Given the description of an element on the screen output the (x, y) to click on. 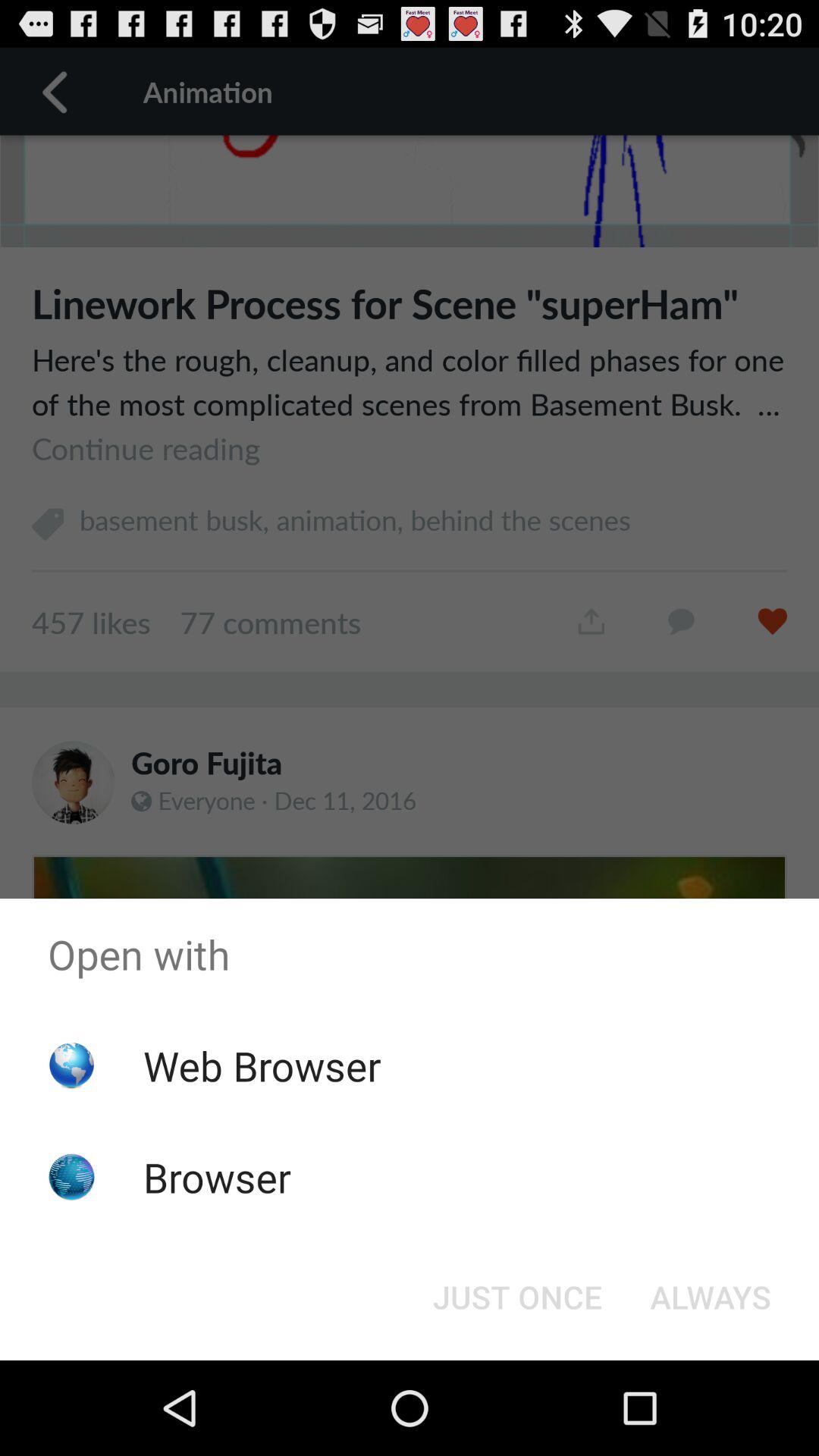
turn off item to the right of the just once button (710, 1296)
